Given the description of an element on the screen output the (x, y) to click on. 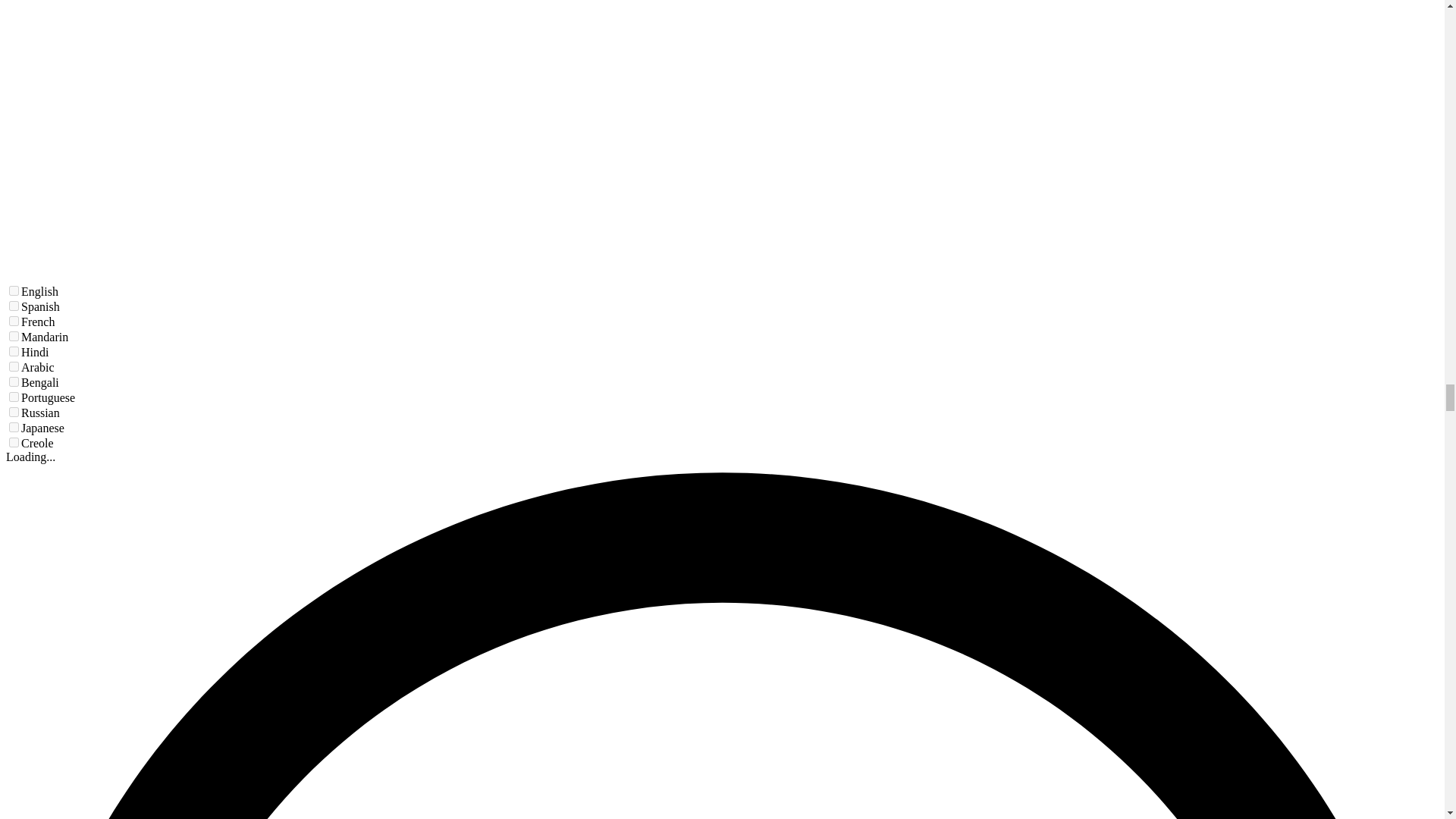
mandarin (13, 336)
french (13, 320)
russian (13, 411)
english (13, 290)
japanese (13, 427)
hindi (13, 351)
bengali (13, 381)
arabic (13, 366)
portuguese (13, 397)
spanish (13, 306)
creole (13, 442)
